Given the description of an element on the screen output the (x, y) to click on. 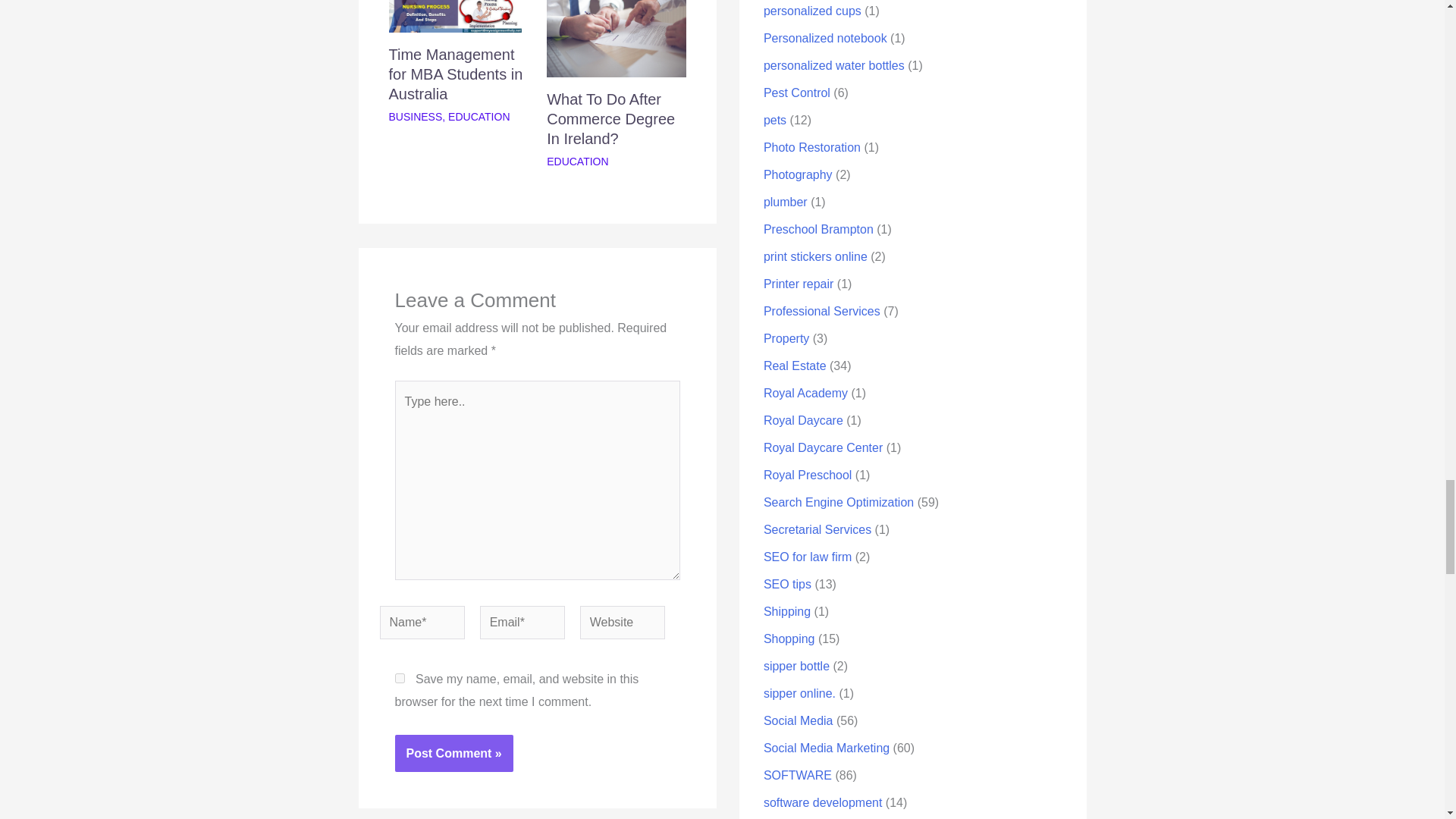
yes (399, 678)
